Given the description of an element on the screen output the (x, y) to click on. 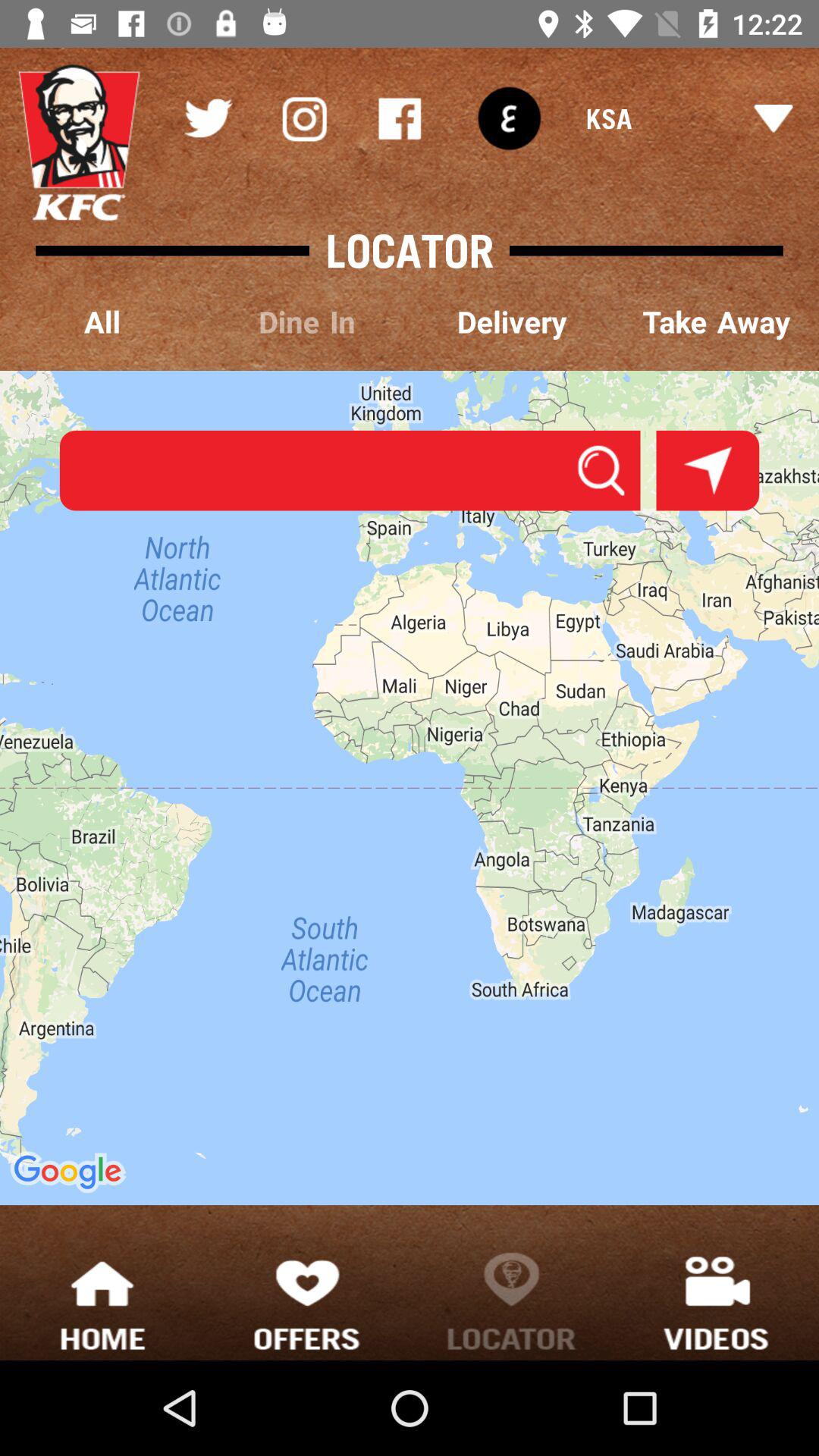
turn off the delivery item (511, 322)
